Given the description of an element on the screen output the (x, y) to click on. 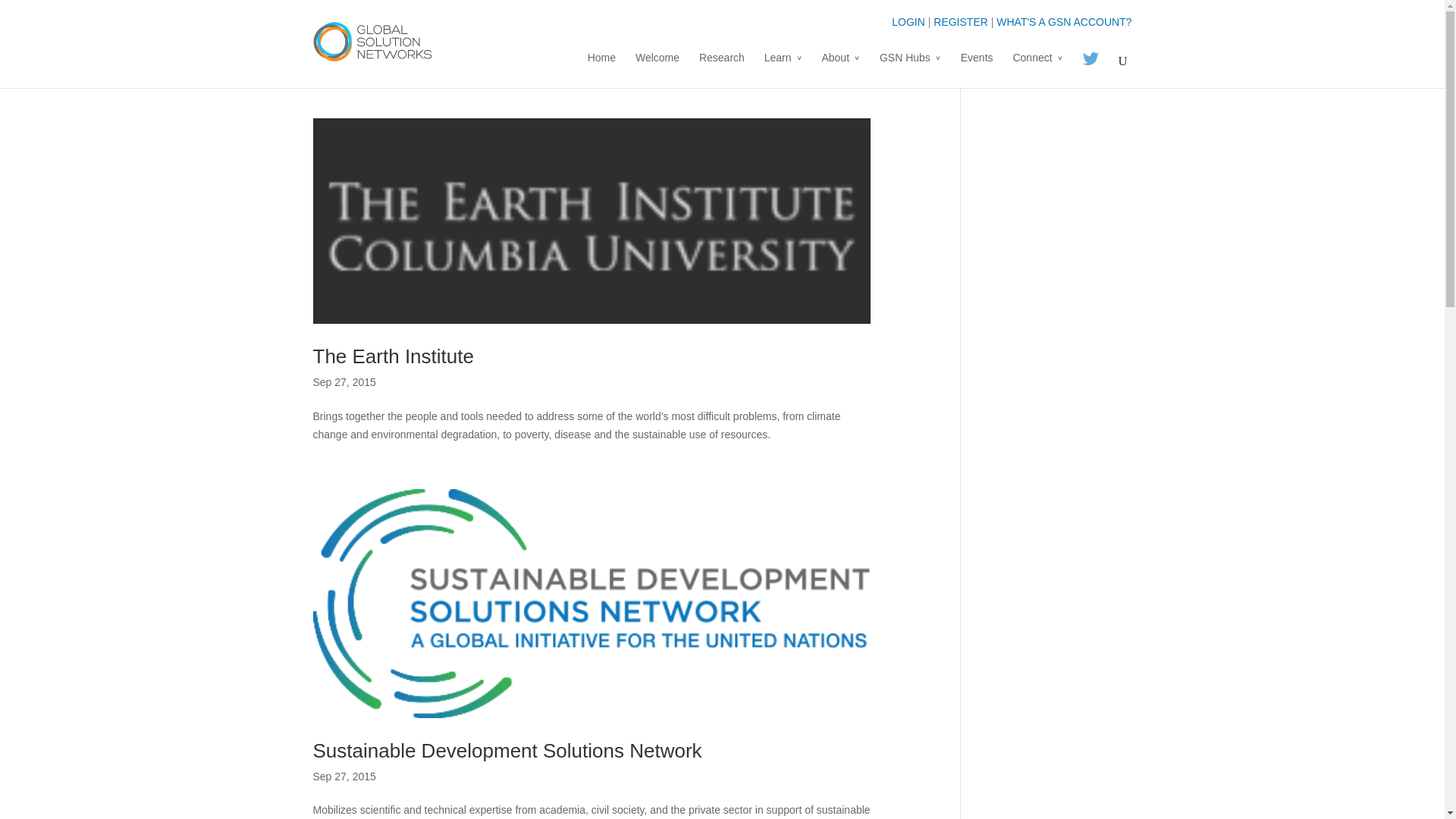
GSN Hubs (909, 69)
Connect (1036, 69)
LOGIN (907, 21)
Learn (783, 69)
Events (976, 69)
Welcome (656, 69)
REGISTER (960, 21)
WHAT'S A GSN ACCOUNT? (1063, 21)
Research (721, 69)
About (840, 69)
